Given the description of an element on the screen output the (x, y) to click on. 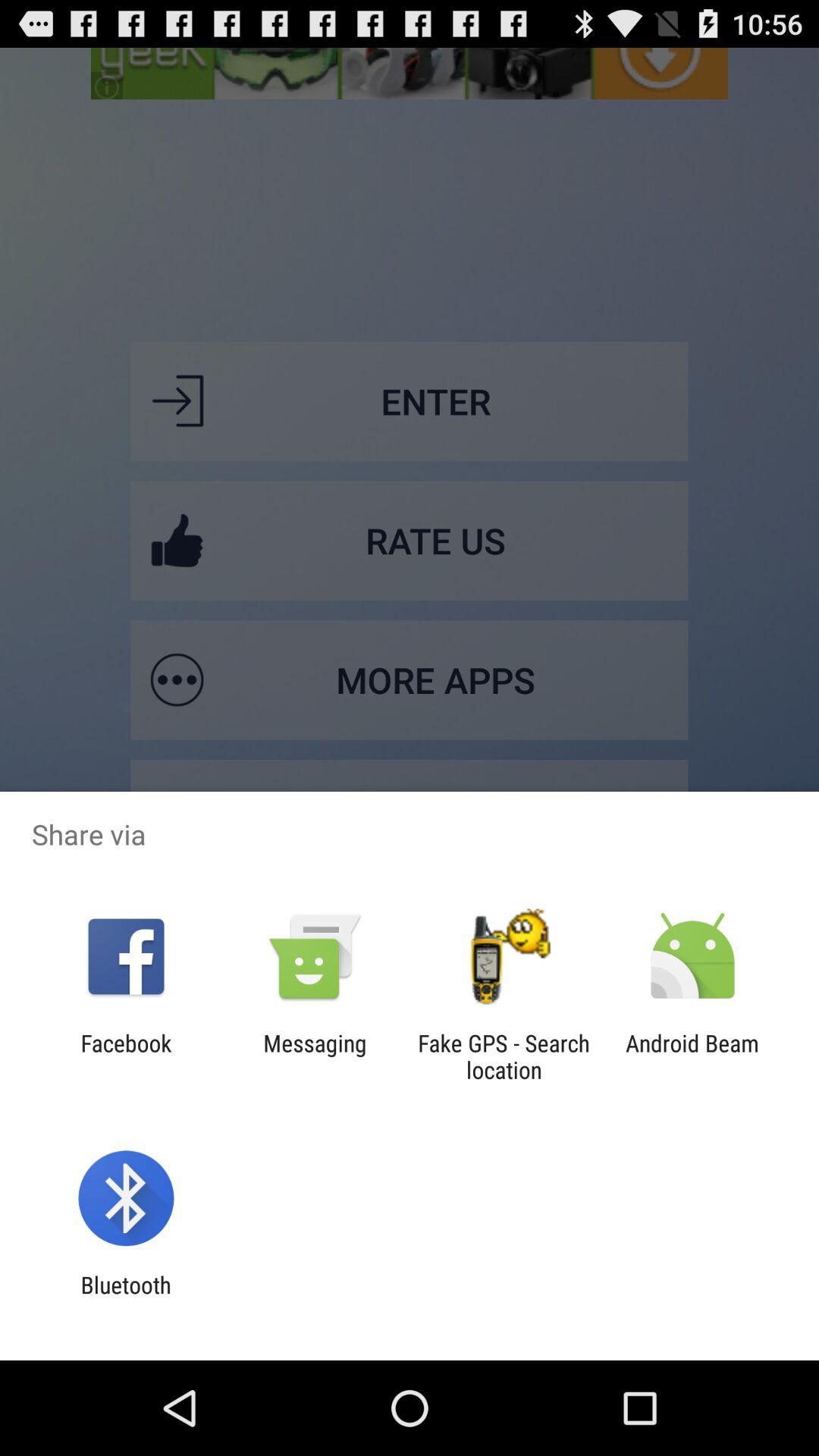
choose icon to the left of android beam app (503, 1056)
